Given the description of an element on the screen output the (x, y) to click on. 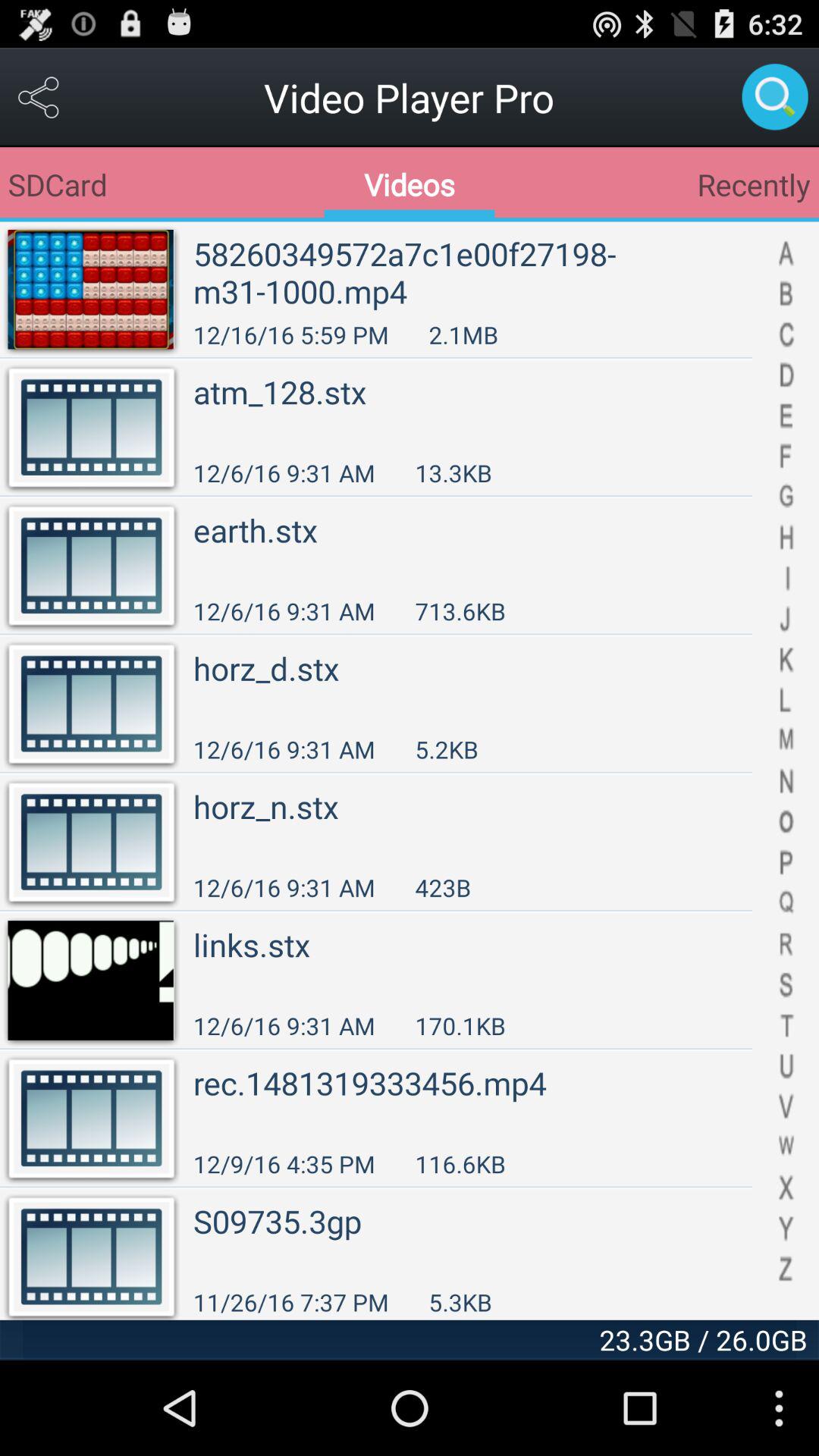
search by letter (785, 770)
